Given the description of an element on the screen output the (x, y) to click on. 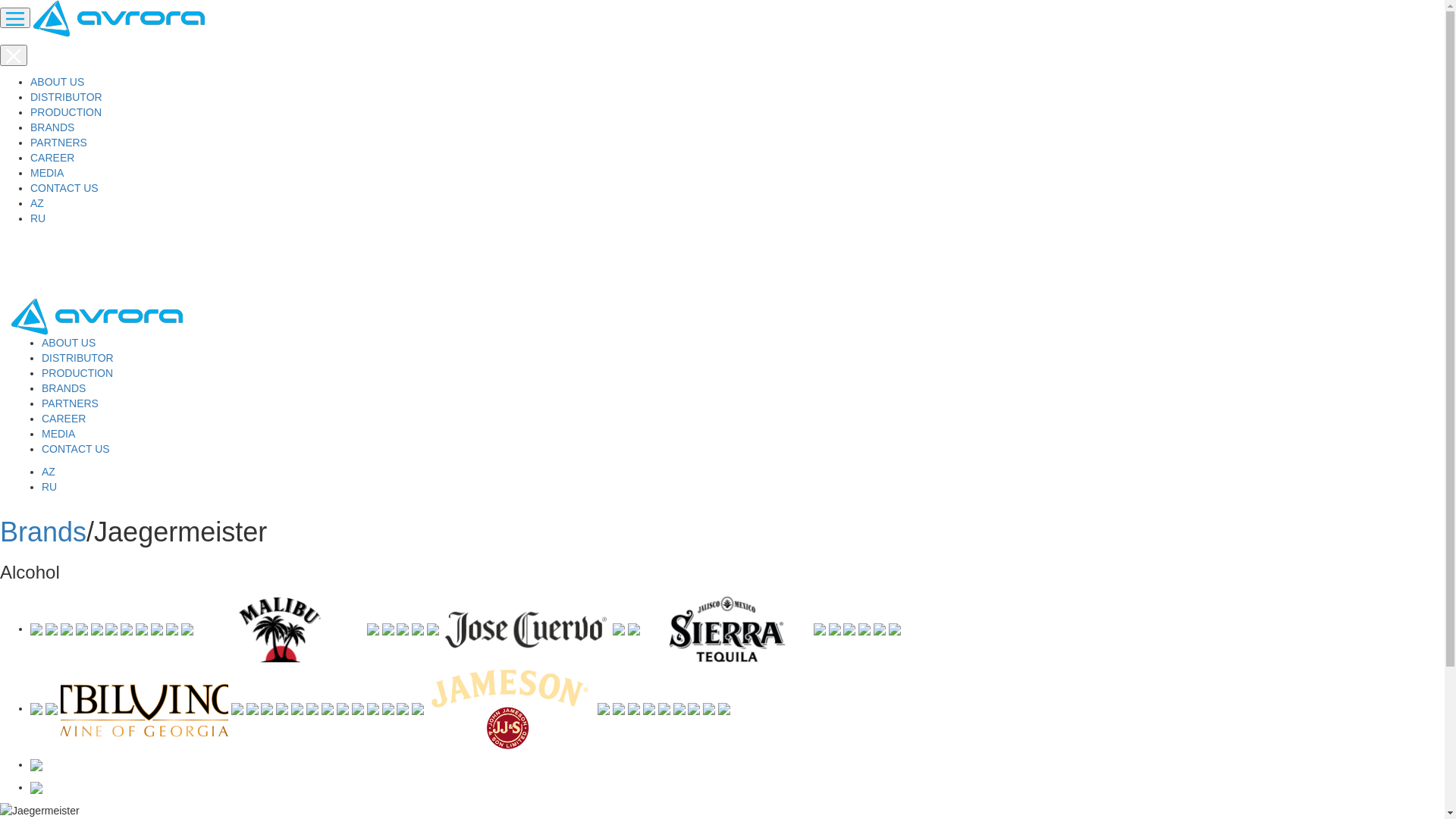
RU Element type: text (48, 486)
PRODUCTION Element type: text (65, 112)
MEDIA Element type: text (58, 433)
CAREER Element type: text (63, 418)
CONTACT US Element type: text (75, 448)
ABOUT US Element type: text (57, 81)
DISTRIBUTOR Element type: text (77, 357)
AZ Element type: text (36, 203)
DISTRIBUTOR Element type: text (66, 97)
CONTACT US Element type: text (64, 188)
ABOUT US Element type: text (68, 342)
MEDIA Element type: text (46, 172)
PARTNERS Element type: text (69, 403)
PRODUCTION Element type: text (76, 373)
BRANDS Element type: text (52, 127)
PARTNERS Element type: text (58, 142)
AZ Element type: text (48, 471)
CAREER Element type: text (52, 157)
RU Element type: text (37, 218)
Brands Element type: text (43, 531)
BRANDS Element type: text (63, 388)
